Given the description of an element on the screen output the (x, y) to click on. 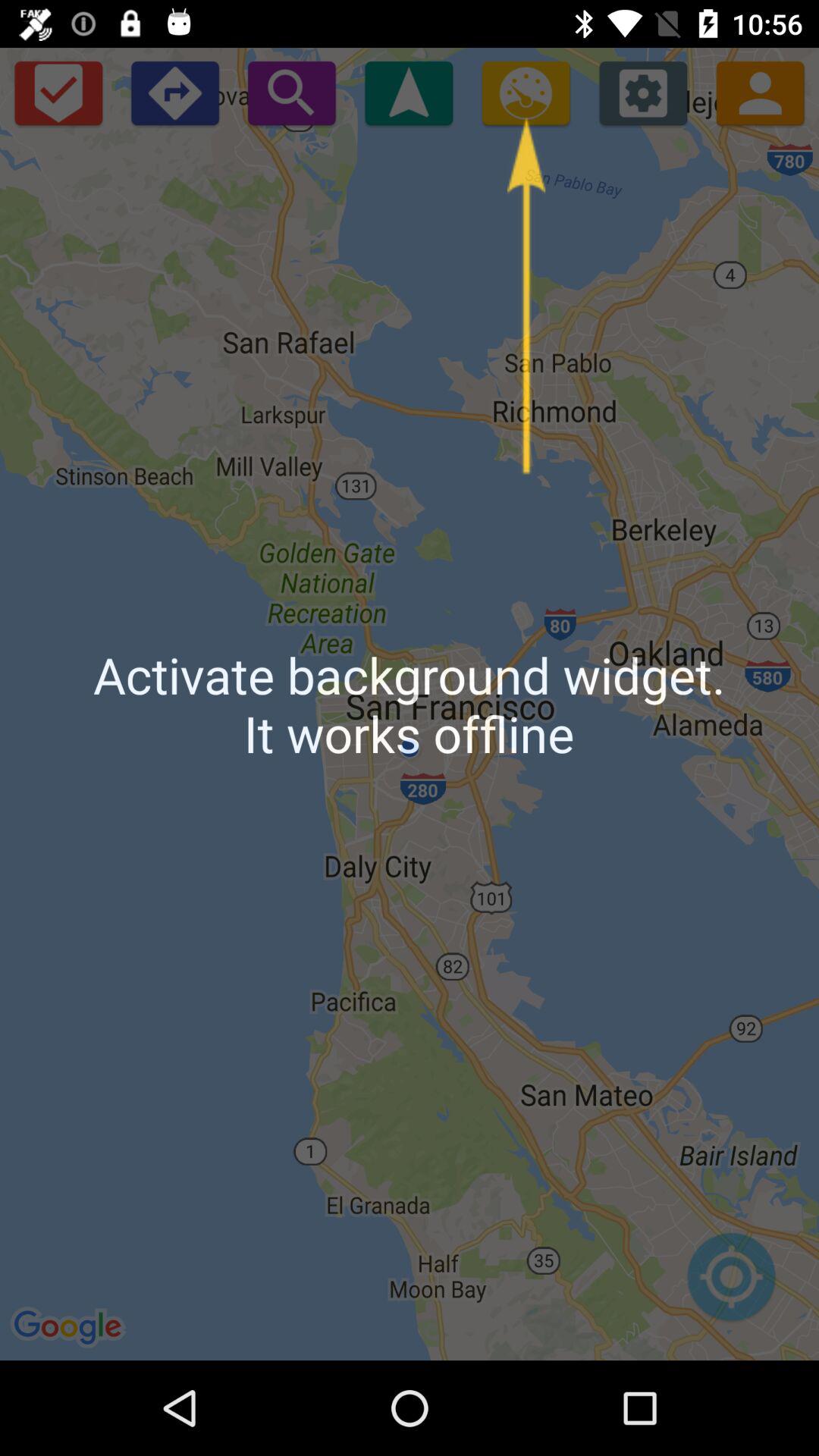
shows search option (291, 92)
